Given the description of an element on the screen output the (x, y) to click on. 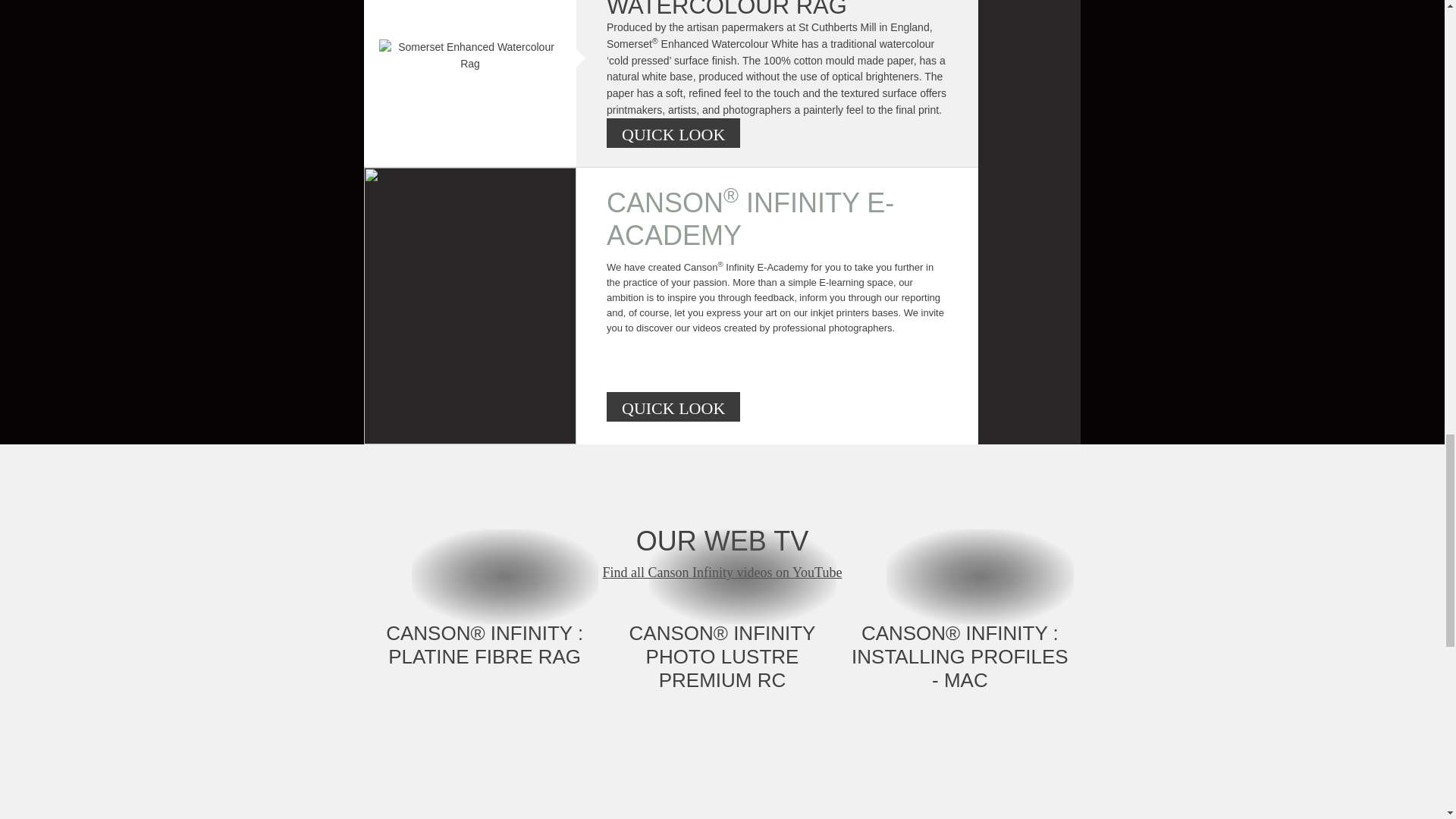
YouTube video player (722, 773)
